Given the description of an element on the screen output the (x, y) to click on. 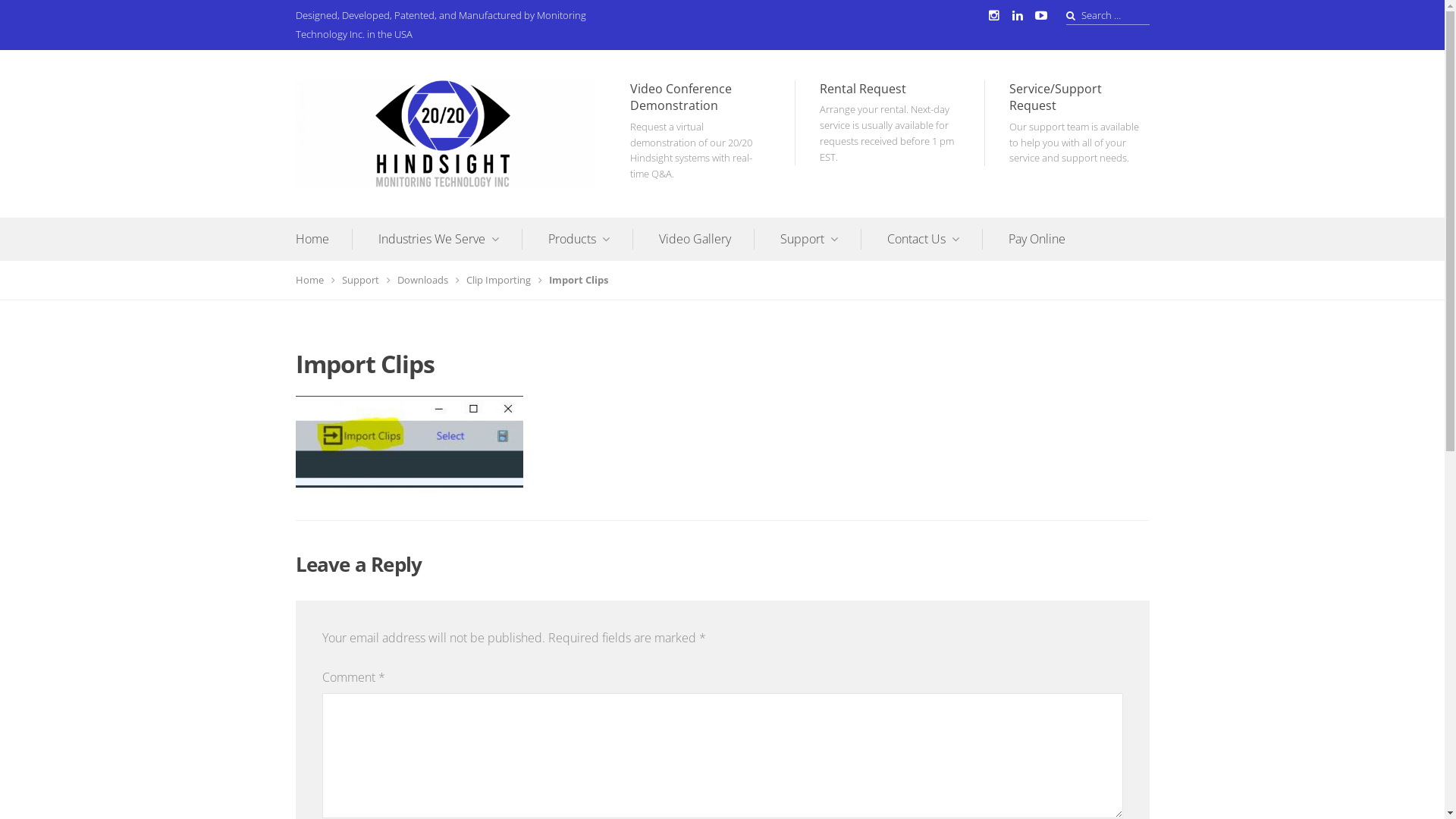
Industries We Serve Element type: text (449, 238)
Support Element type: text (819, 238)
Video Gallery Element type: text (705, 238)
Home Element type: text (315, 279)
Contact Us Element type: text (934, 238)
Instagram Element type: text (993, 15)
Clip Importing Element type: text (503, 279)
LinkedIn Element type: text (1017, 15)
Support Element type: text (365, 279)
Products Element type: text (589, 238)
20/20 Hindsight Element type: text (367, 198)
Home Element type: text (323, 238)
YouTube Element type: text (1040, 15)
Search Element type: text (32, 16)
Pay Online Element type: text (1036, 238)
Downloads Element type: text (428, 279)
